Given the description of an element on the screen output the (x, y) to click on. 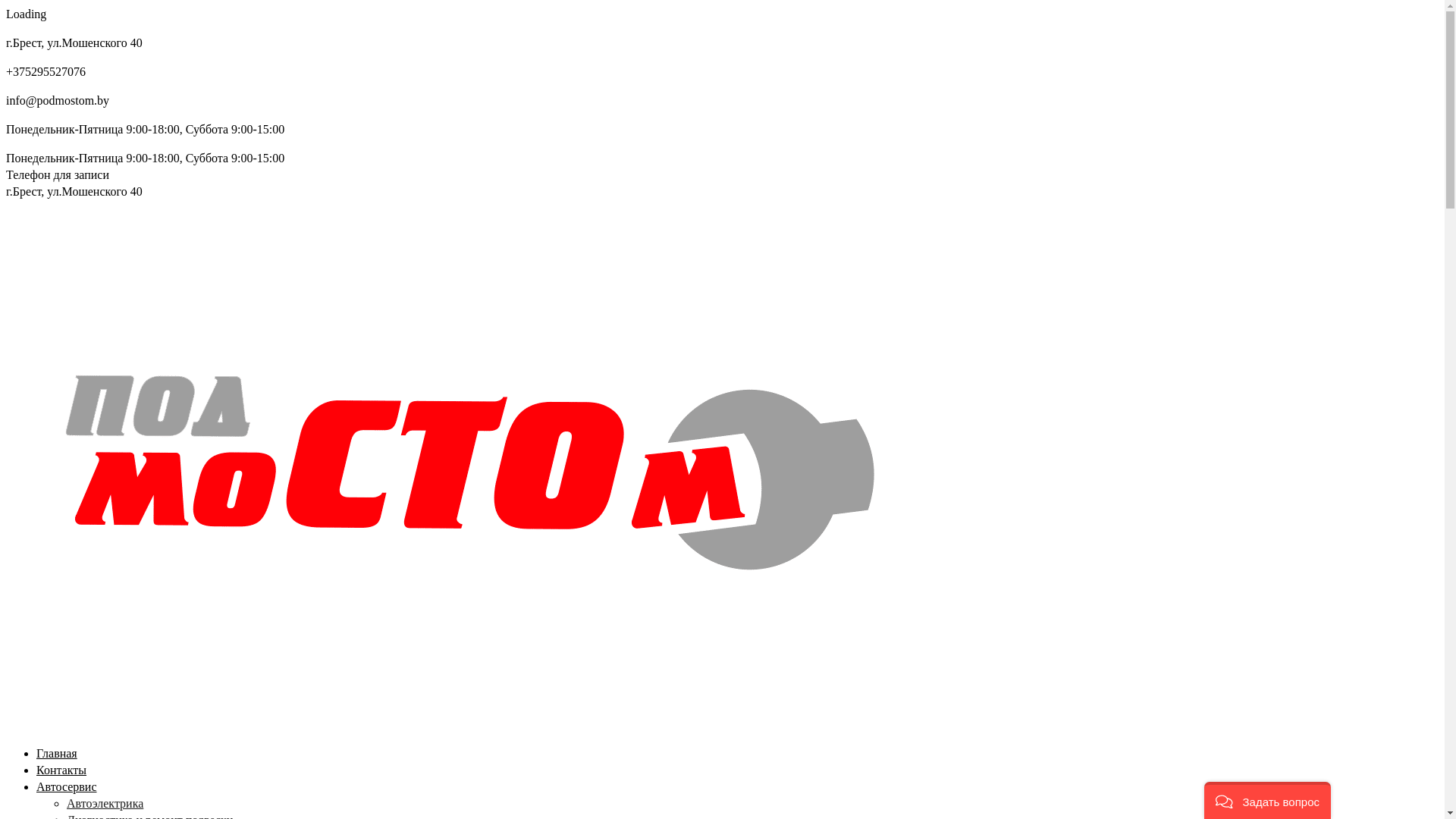
+375-29-552-70-76 Element type: text (159, 174)
